Given the description of an element on the screen output the (x, y) to click on. 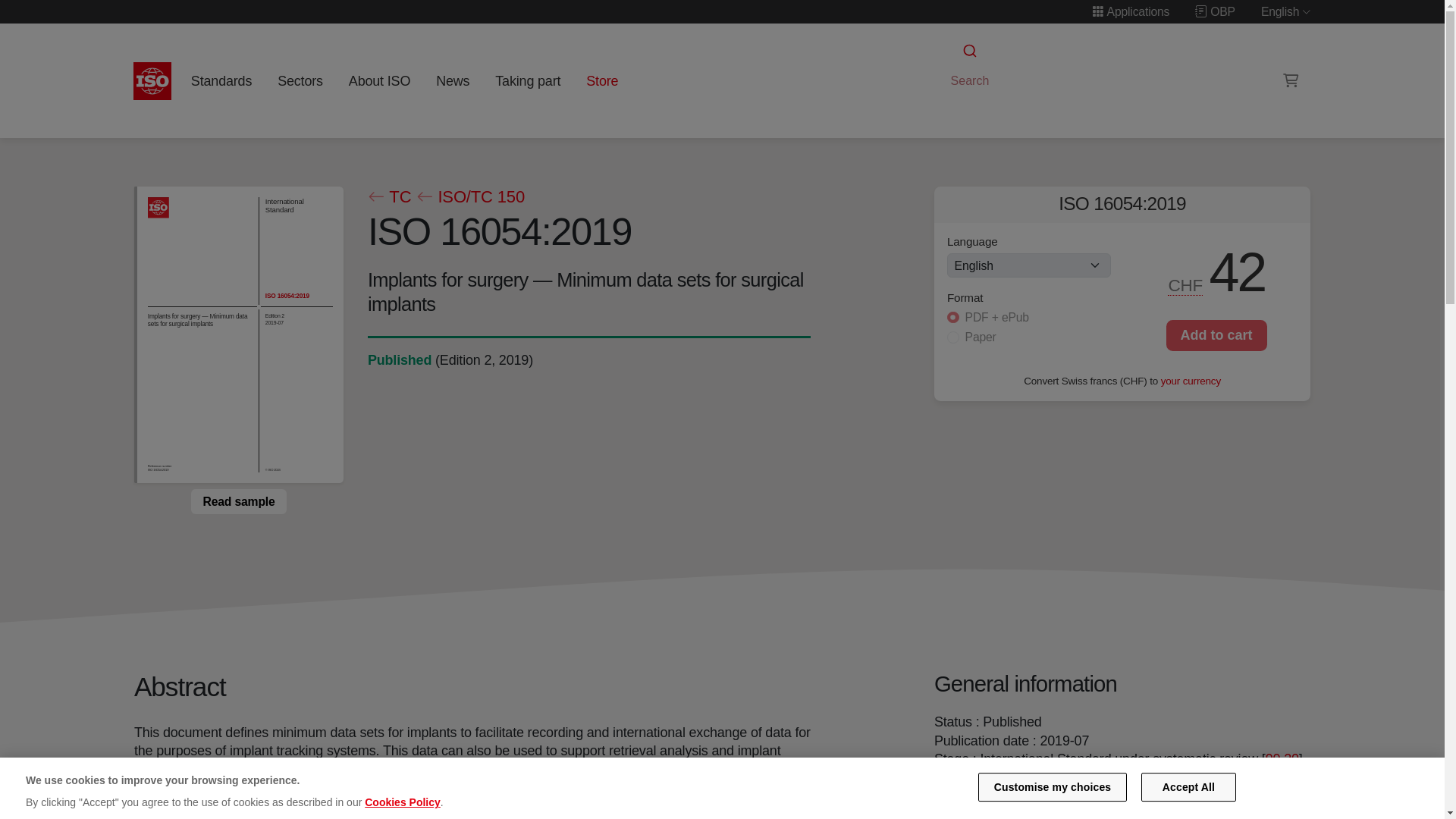
90.20 (1281, 758)
News (452, 80)
Shopping cart (1290, 80)
Swiss francs (1186, 285)
ISO's applications portal (1130, 11)
 Applications (1130, 11)
Read sample (237, 501)
 OBP (1214, 11)
Submit (968, 51)
Sectors (300, 80)
Add to cart (1216, 335)
International Organization for Standardization (152, 80)
